Given the description of an element on the screen output the (x, y) to click on. 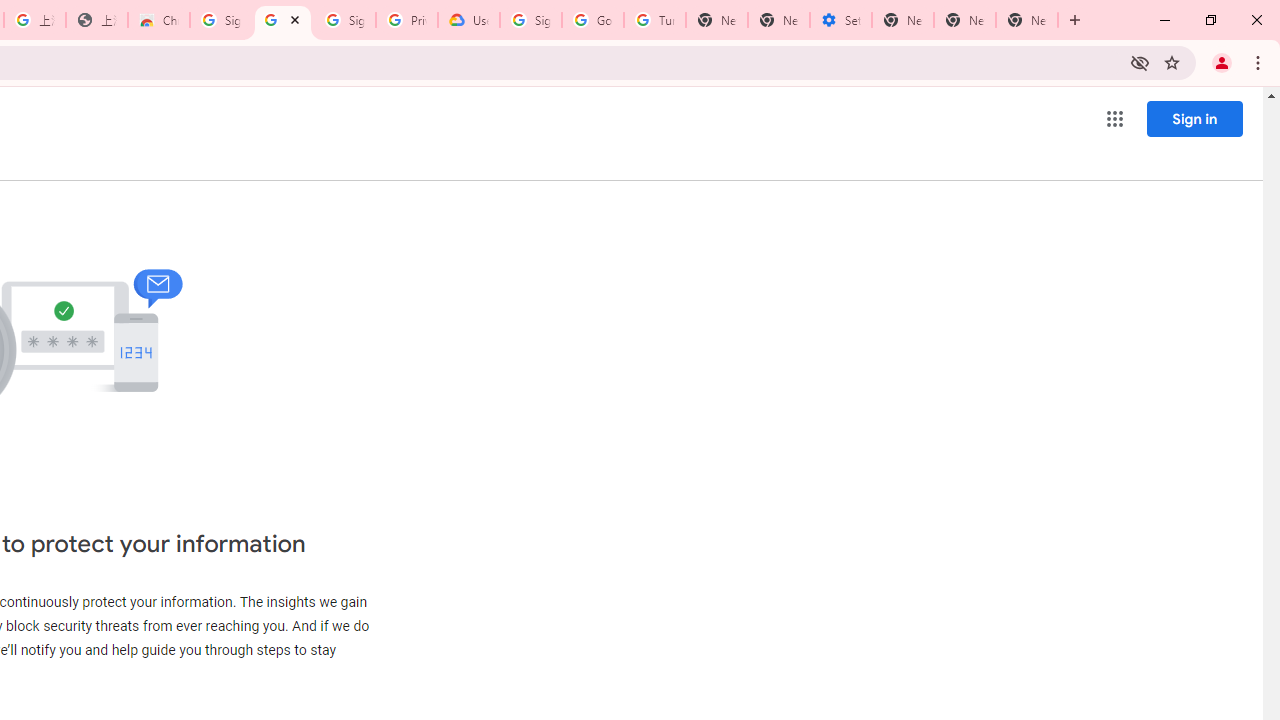
New Tab (716, 20)
Sign in - Google Accounts (344, 20)
Chrome Web Store - Color themes by Chrome (158, 20)
Sign in - Google Accounts (530, 20)
Turn cookies on or off - Computer - Google Account Help (654, 20)
